Given the description of an element on the screen output the (x, y) to click on. 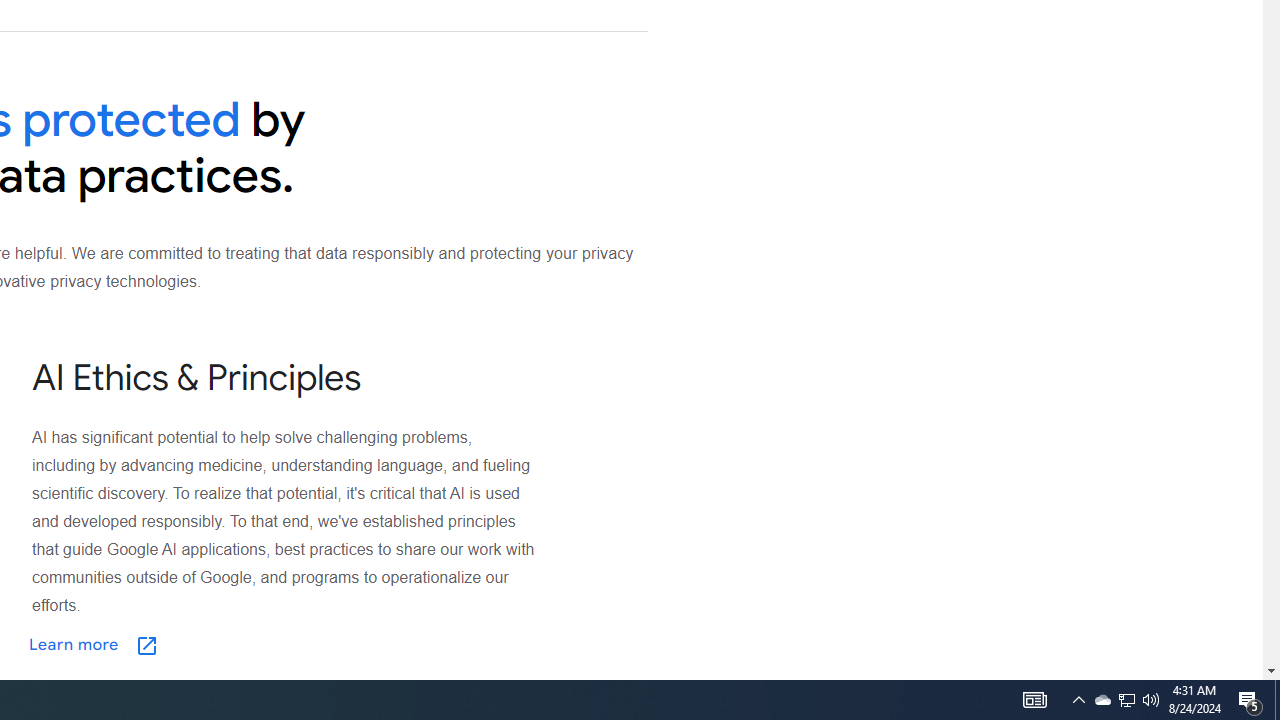
Learn more  (193, 645)
